Given the description of an element on the screen output the (x, y) to click on. 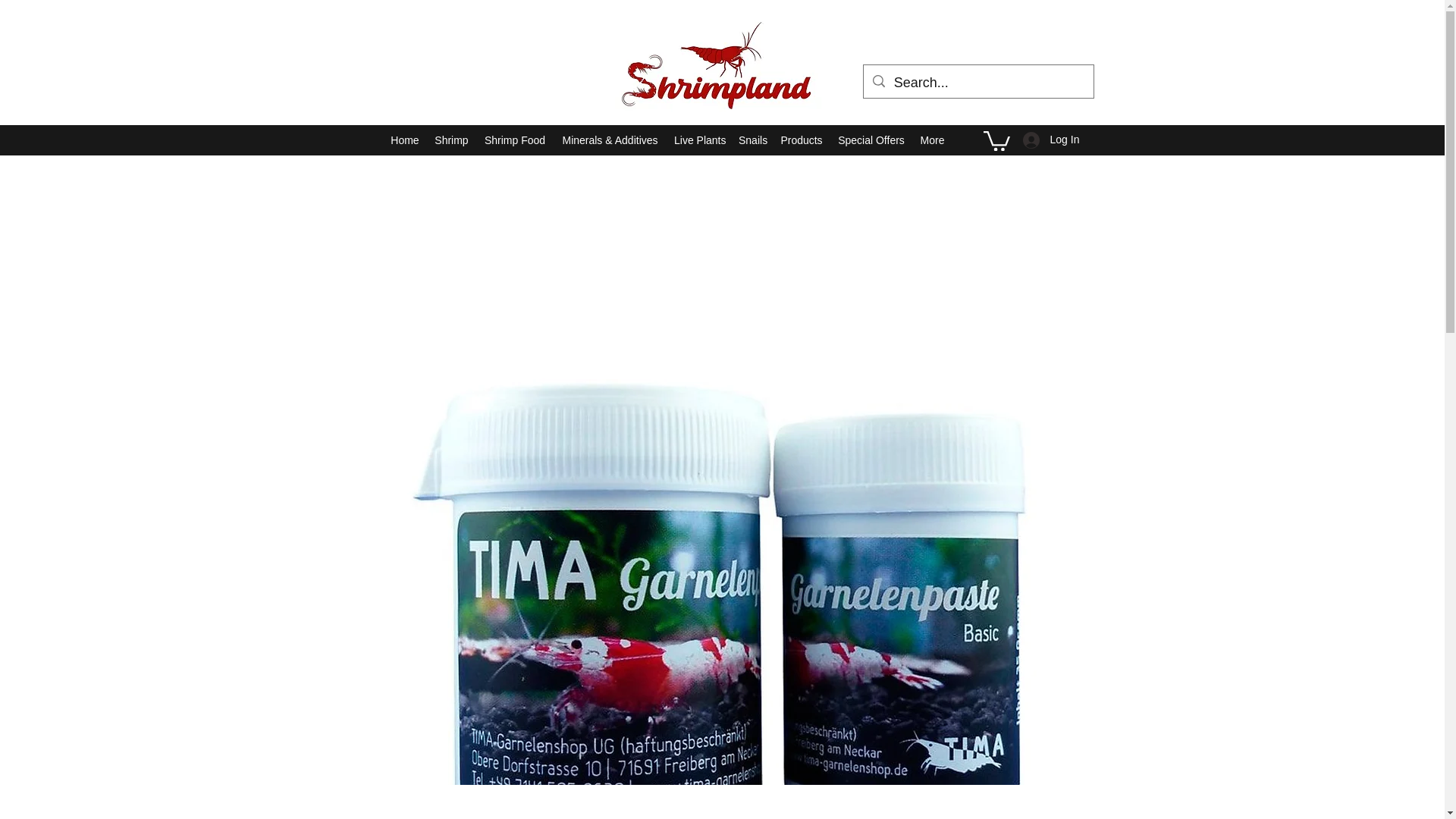
Shrimp (451, 139)
Live Plants (698, 139)
Shrimp Food (514, 139)
Snails (751, 139)
Home (404, 139)
Special Offers (870, 139)
Products (801, 139)
Log In (1039, 139)
